Given the description of an element on the screen output the (x, y) to click on. 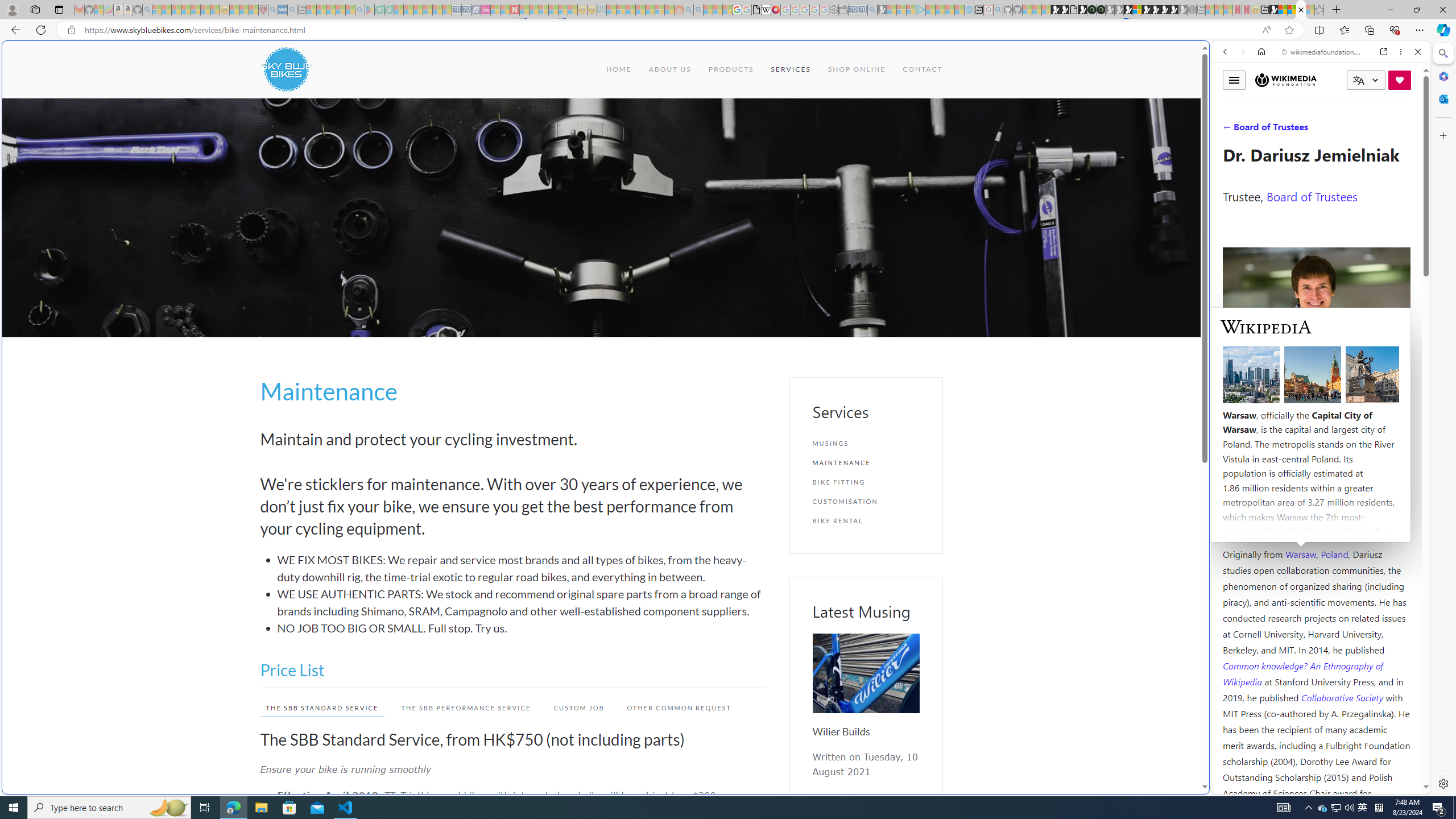
Open link in new tab (1383, 51)
Local - MSN - Sleeping (253, 9)
14 Common Myths Debunked By Scientific Facts - Sleeping (533, 9)
CURRENT LANGUAGE: (1366, 80)
Microsoft Start - Sleeping (949, 9)
MSN (1272, 9)
Collaborative Society  (1343, 697)
